Given the description of an element on the screen output the (x, y) to click on. 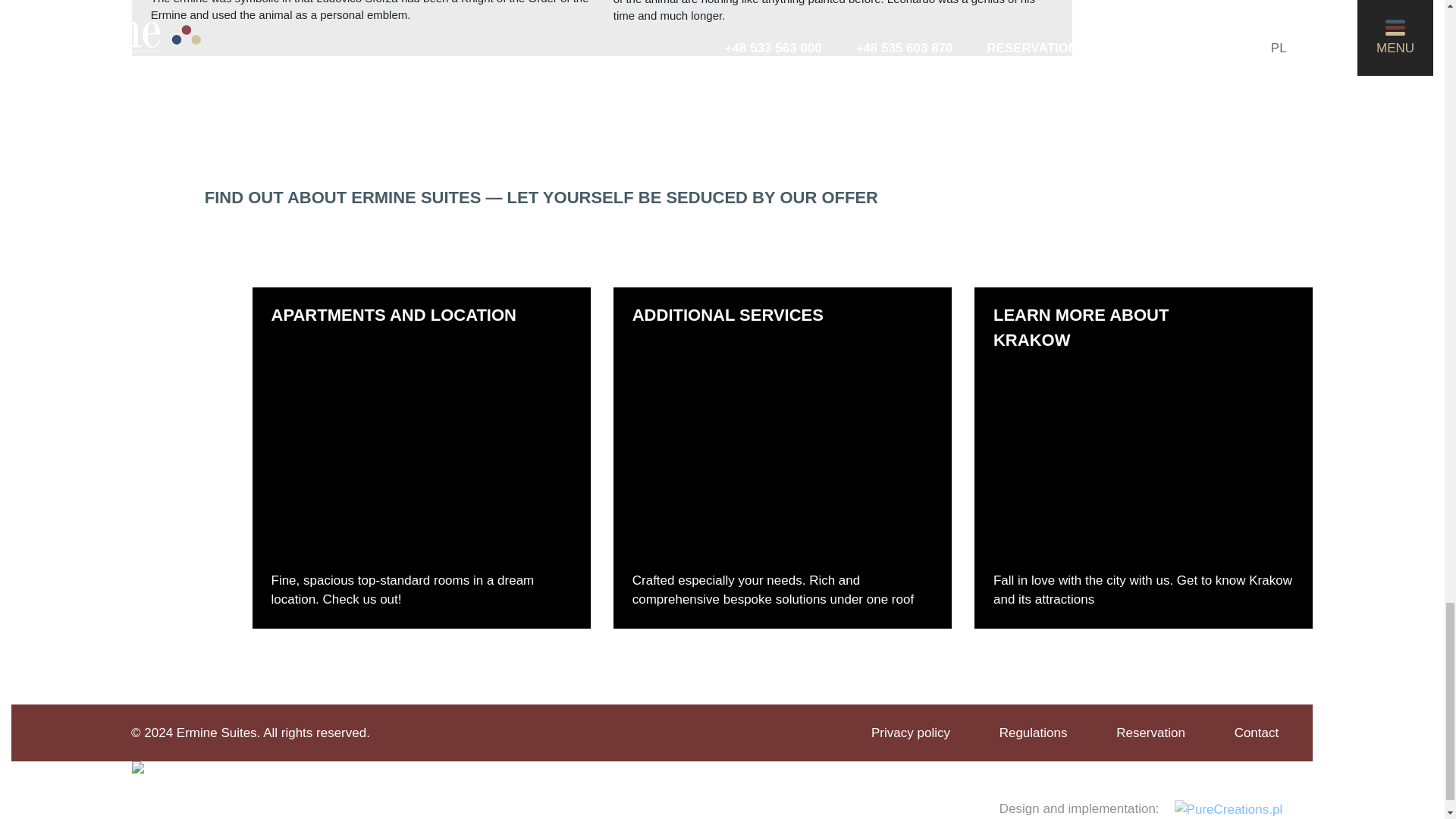
Contact (1256, 732)
Reservation (1150, 732)
Regulations (1032, 732)
Privacy policy (910, 732)
